Given the description of an element on the screen output the (x, y) to click on. 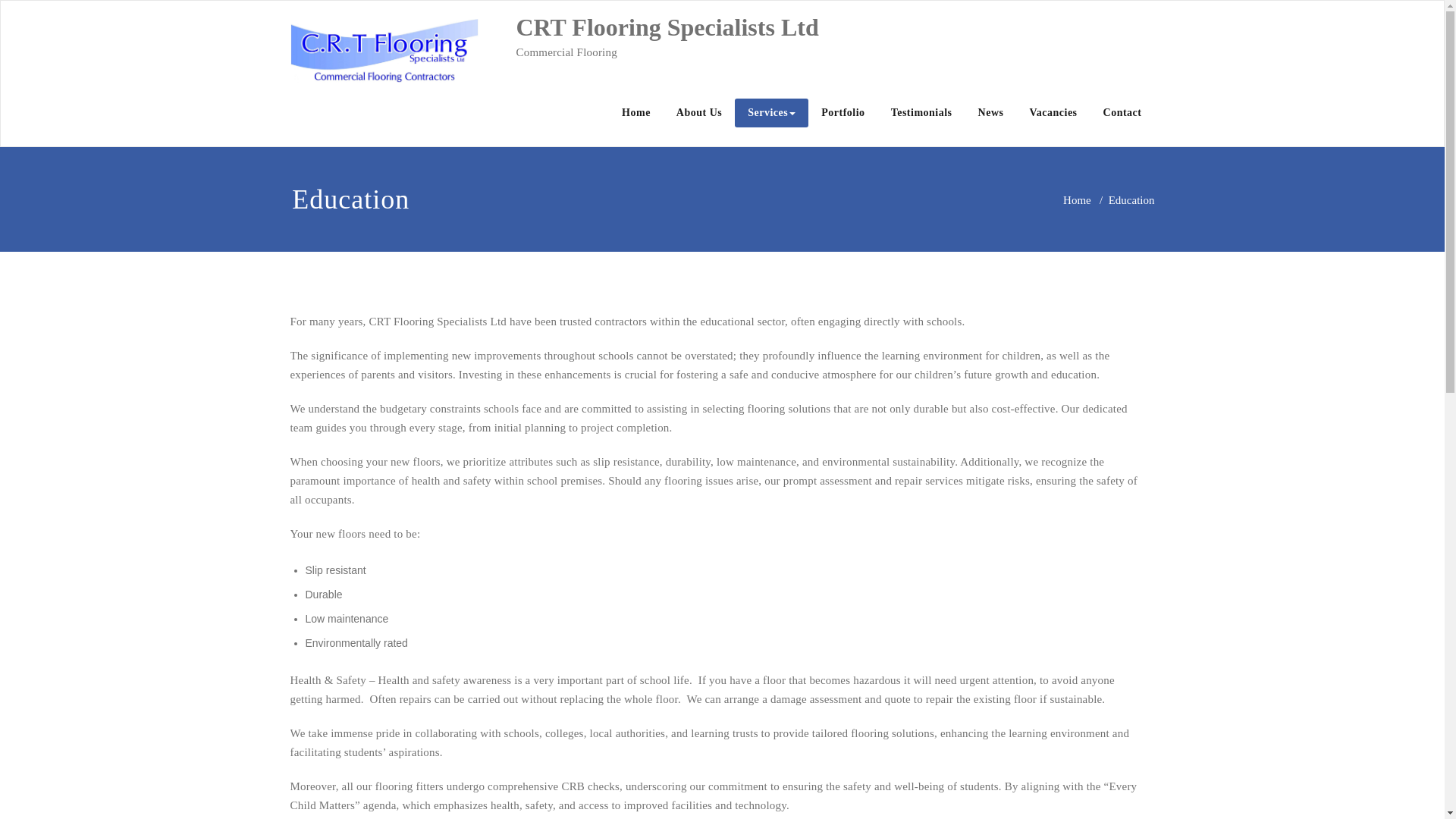
About Us (699, 112)
Portfolio (842, 112)
Services (771, 112)
Home (1076, 200)
CRT Flooring Specialists Ltd (666, 27)
Home (635, 112)
Contact (1122, 112)
News (990, 112)
Vacancies (1052, 112)
Testimonials (921, 112)
